Given the description of an element on the screen output the (x, y) to click on. 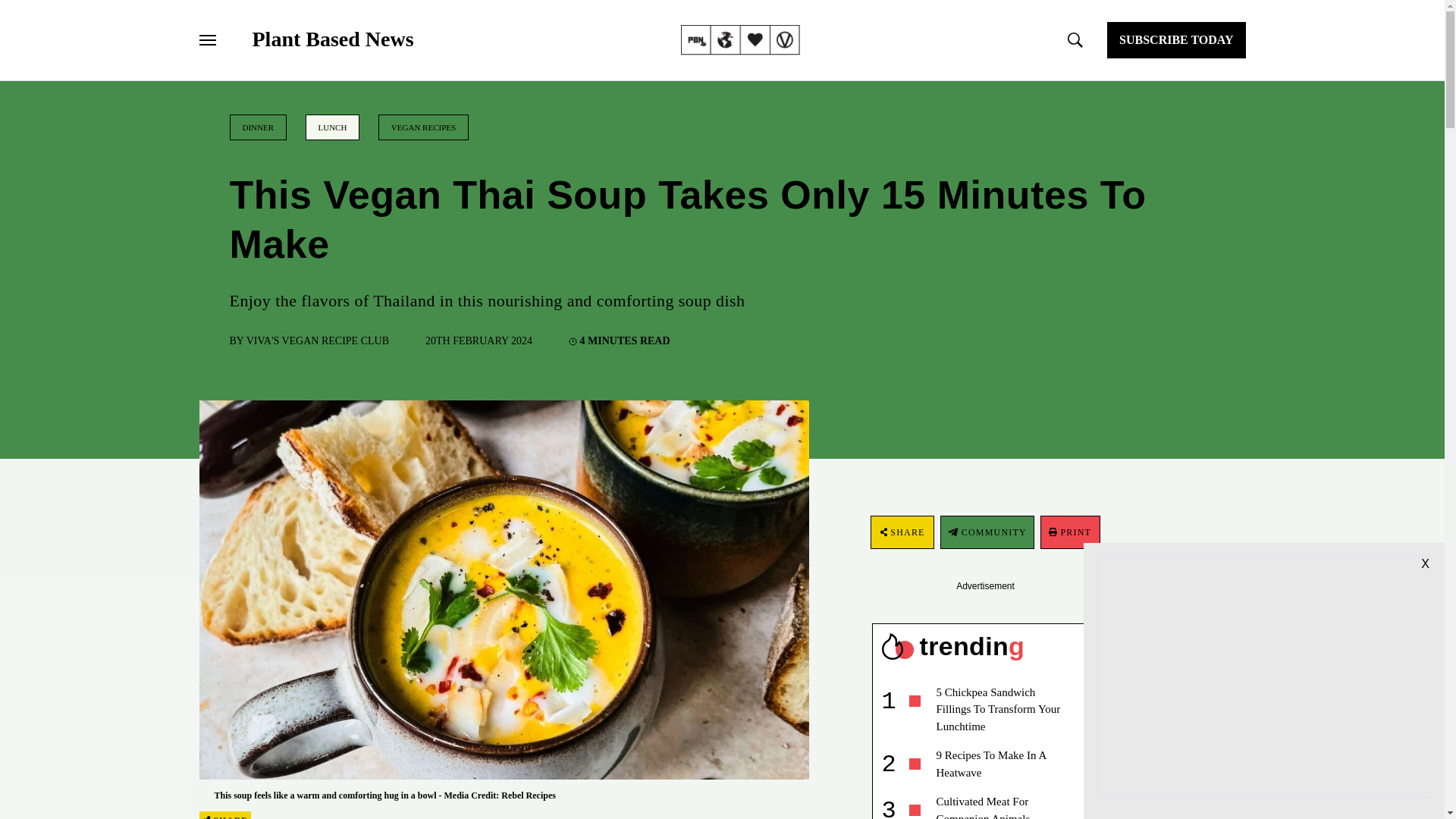
DINNER (257, 127)
VEGAN RECIPES (423, 127)
VIVA'S VEGAN RECIPE CLUB (317, 340)
Posts by Viva's Vegan Recipe Club (317, 340)
Plant Based News (332, 39)
LUNCH (332, 127)
SUBSCRIBE TODAY (1175, 40)
